Given the description of an element on the screen output the (x, y) to click on. 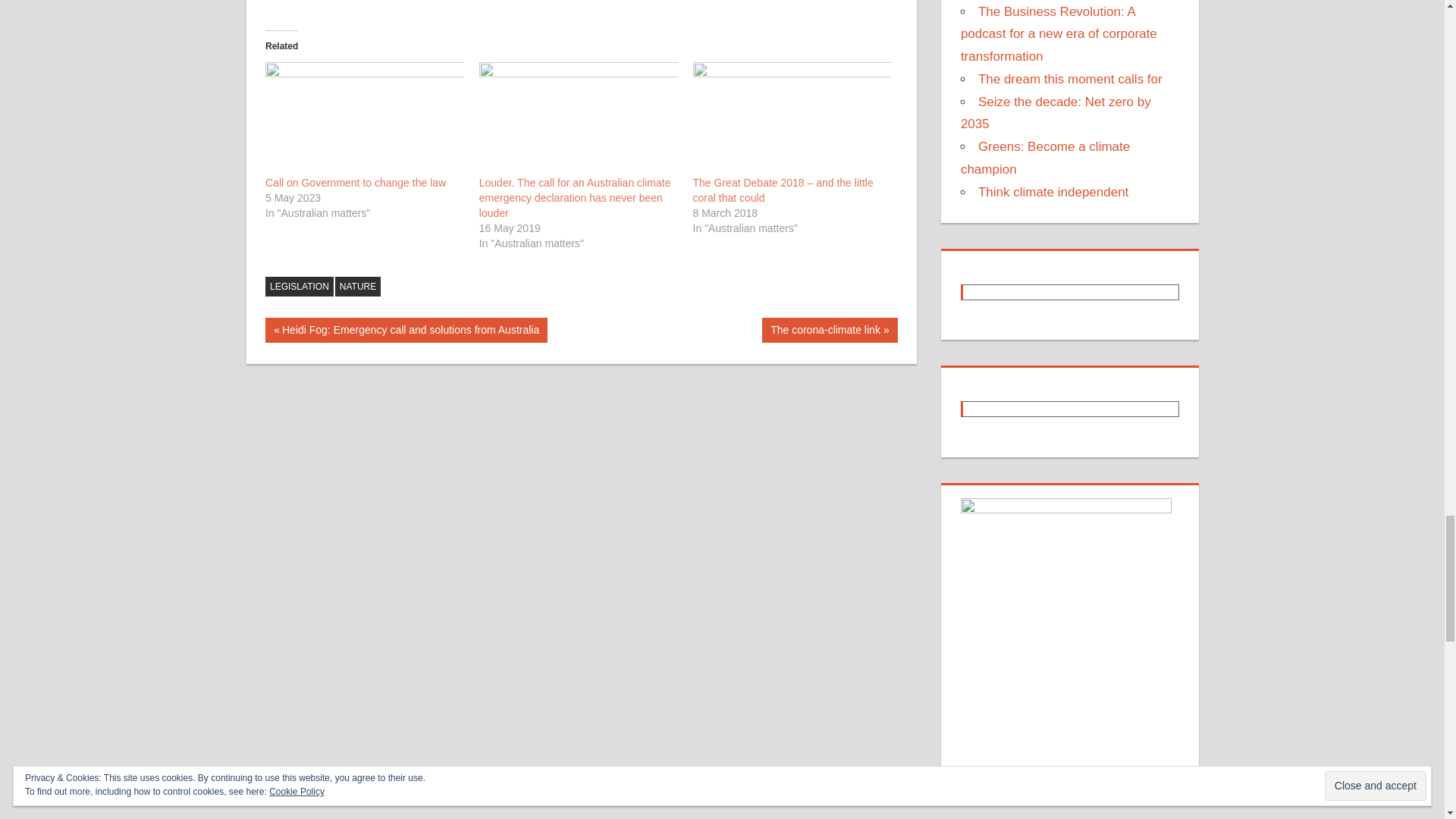
Call on Government to change the law (364, 119)
Call on Government to change the law (354, 182)
